Given the description of an element on the screen output the (x, y) to click on. 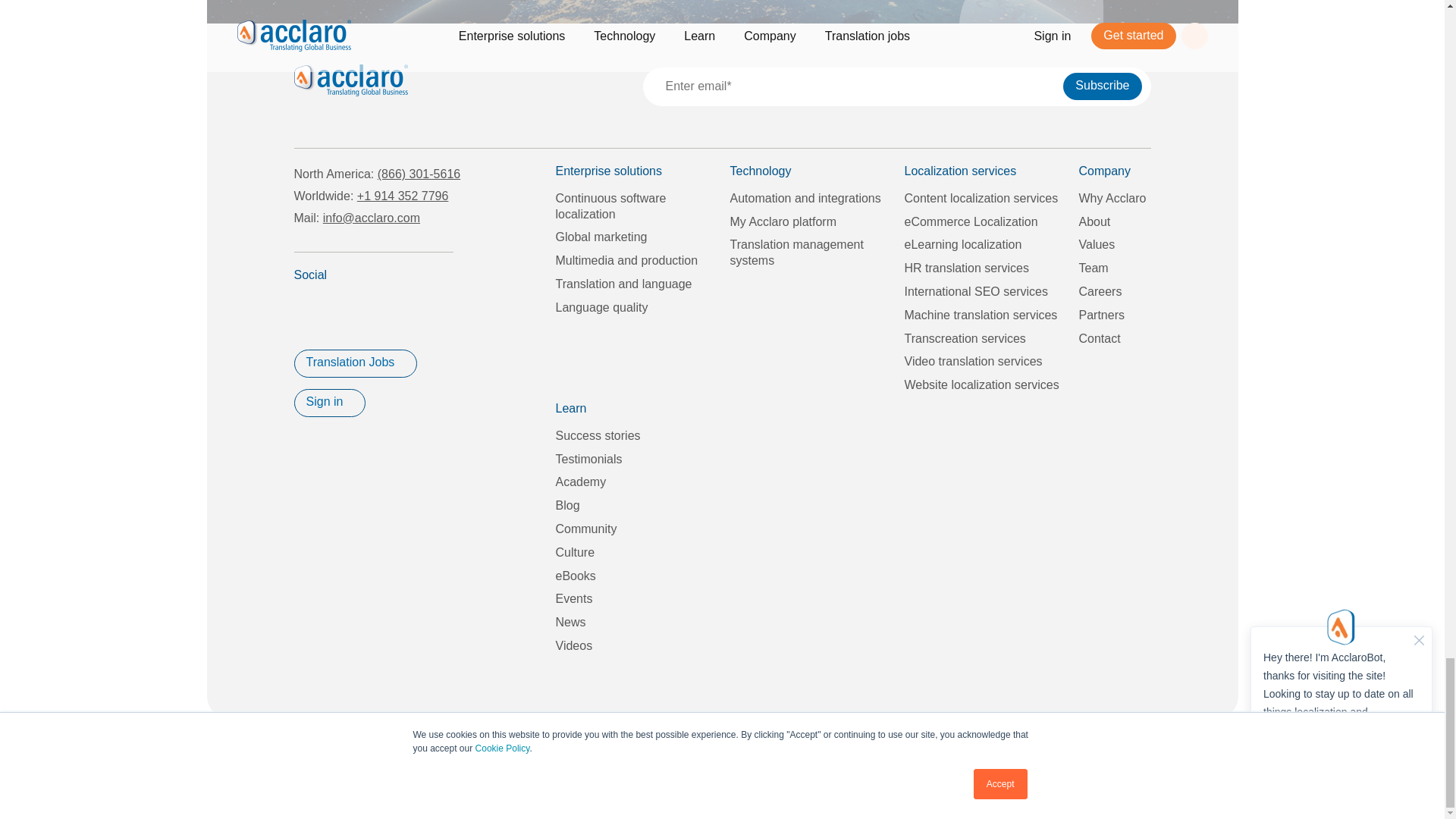
Subscribe (1101, 85)
